Given the description of an element on the screen output the (x, y) to click on. 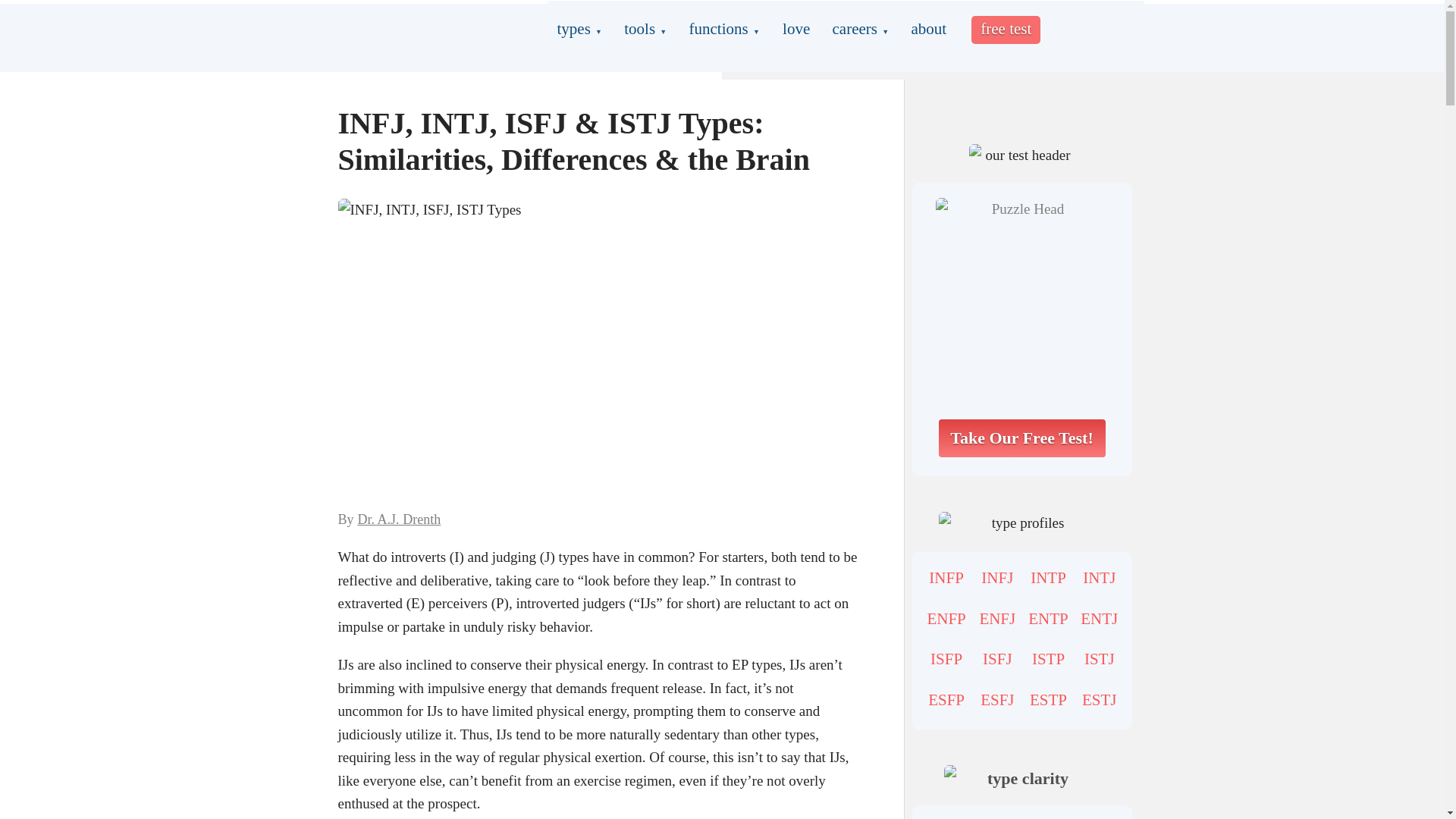
Personality Junkie (410, 30)
about (928, 29)
love (795, 29)
Dr. A.J. Drenth (398, 519)
free test (1006, 29)
